Given the description of an element on the screen output the (x, y) to click on. 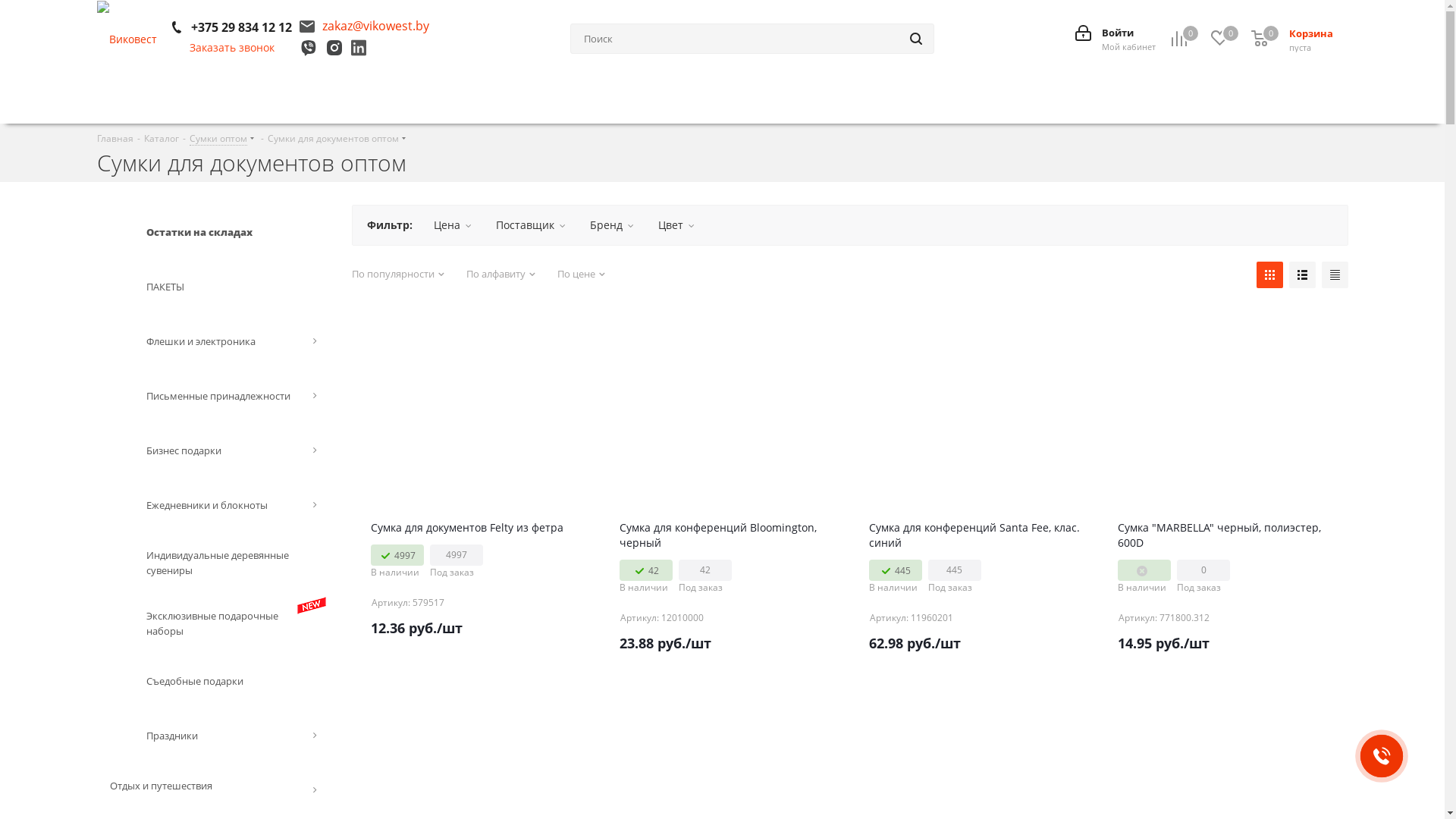
+375 29 834 12 12 Element type: text (241, 26)
Facebook Element type: hover (307, 52)
zakaz@vikowest.by Element type: text (374, 25)
Instagram Element type: hover (333, 52)
zakaz@vikowest.by Element type: text (363, 25)
Linkedin Element type: hover (357, 52)
